Given the description of an element on the screen output the (x, y) to click on. 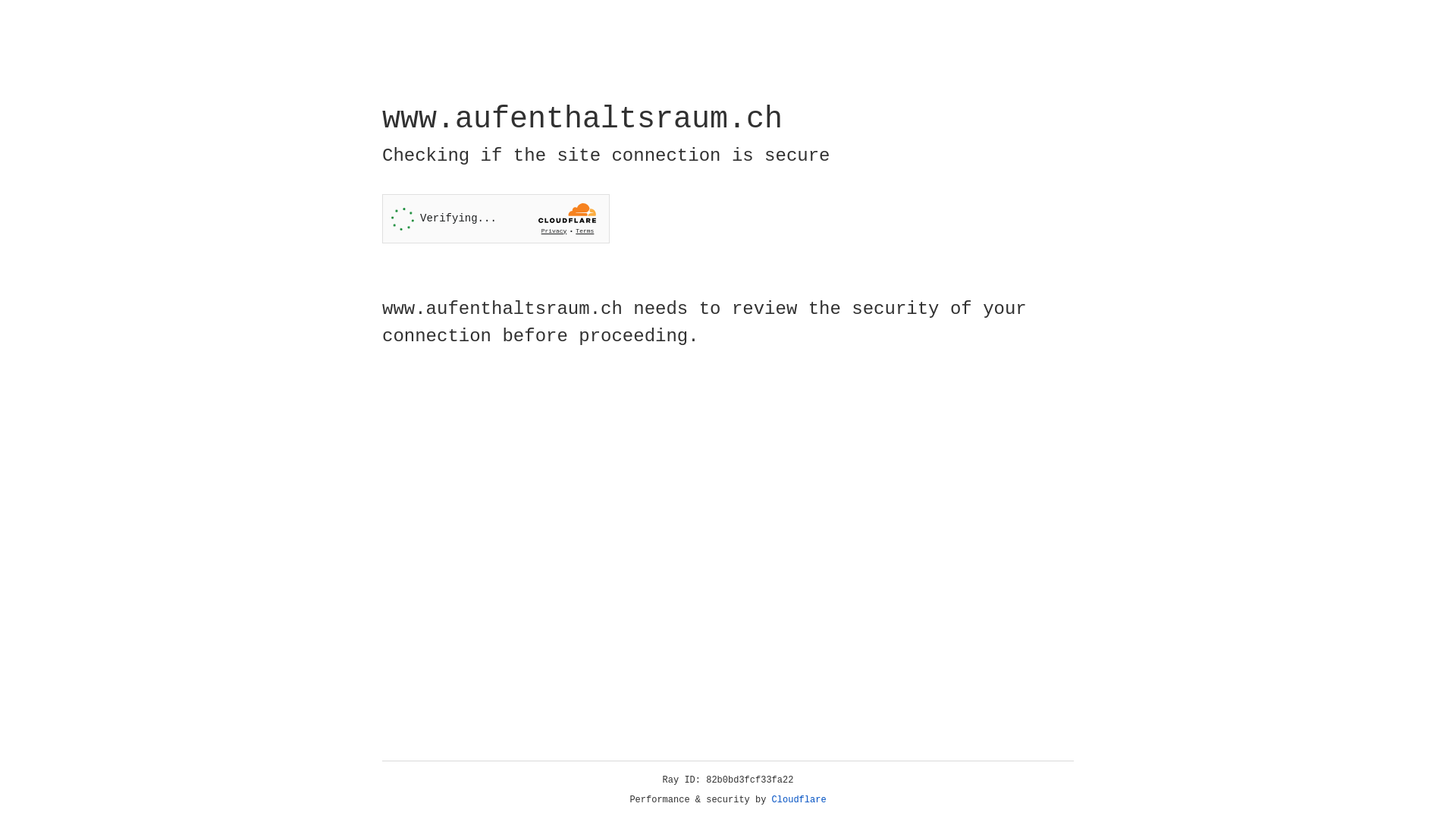
Cloudflare Element type: text (798, 799)
Widget containing a Cloudflare security challenge Element type: hover (495, 218)
